Given the description of an element on the screen output the (x, y) to click on. 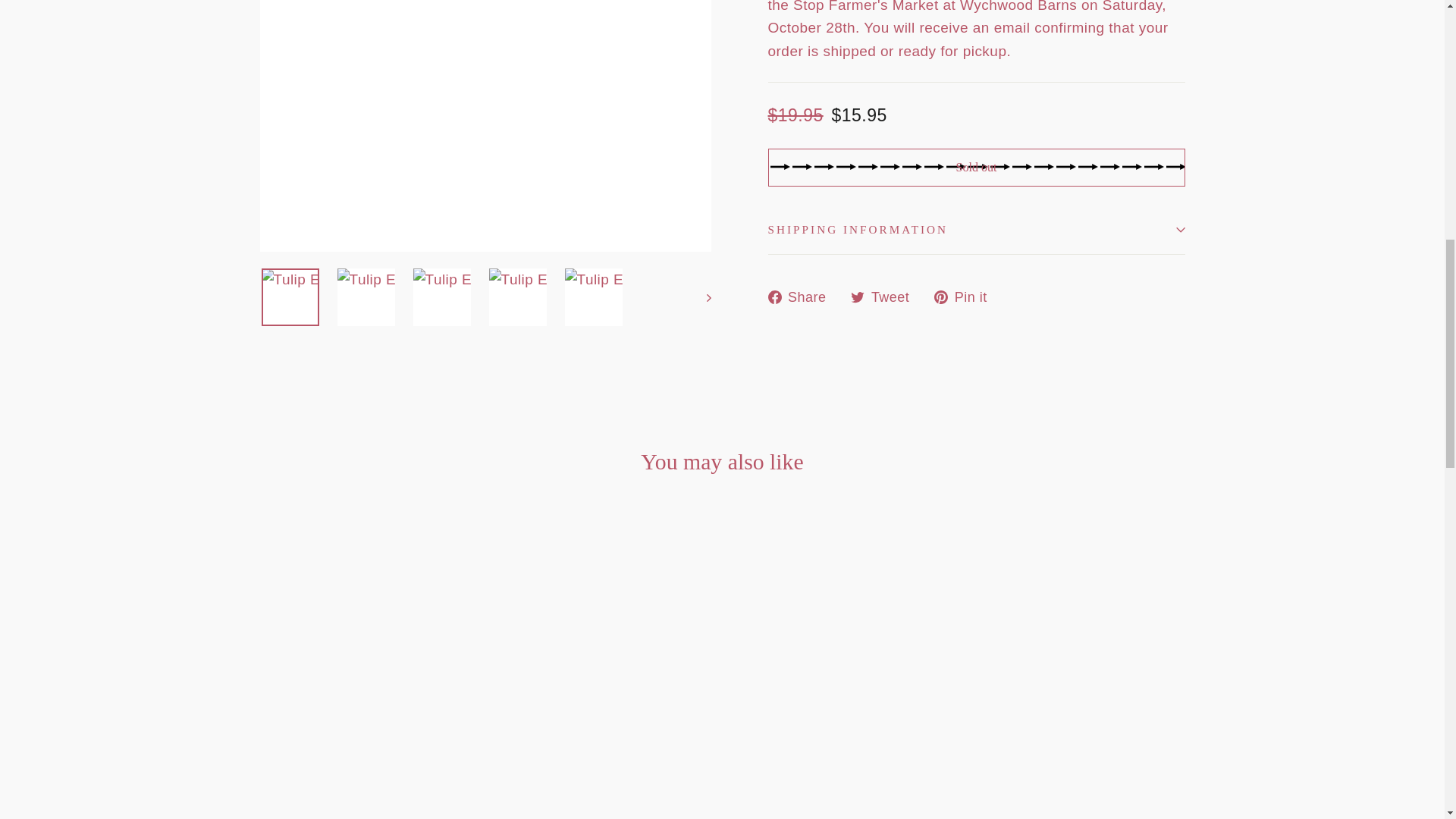
Sold out (976, 167)
Pin on Pinterest (965, 296)
Share on Facebook (965, 296)
SHIPPING INFORMATION (802, 296)
Tweet on Twitter (885, 296)
